Given the description of an element on the screen output the (x, y) to click on. 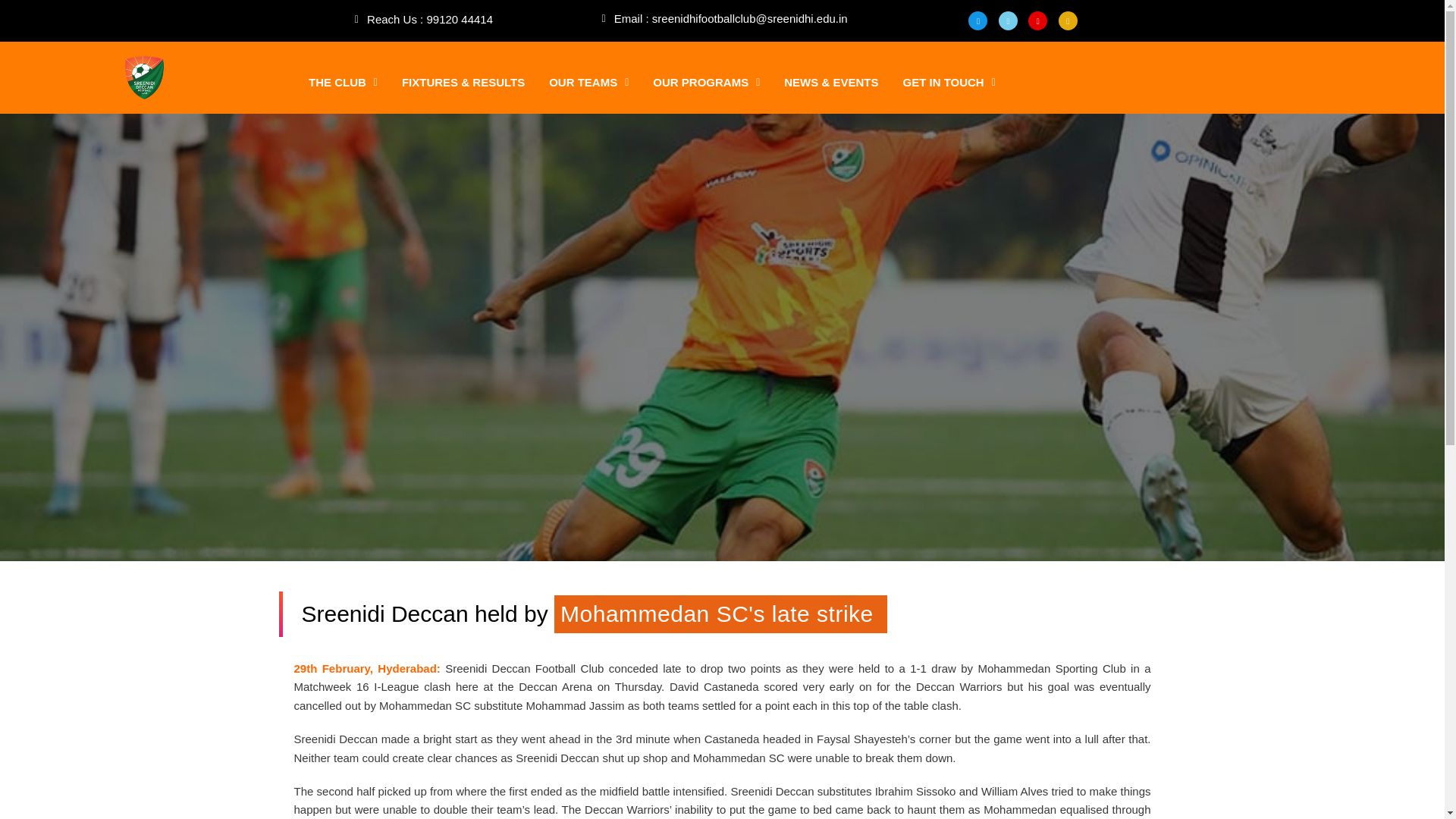
GET IN TOUCH (948, 81)
OUR TEAMS (588, 81)
OUR PROGRAMS (705, 81)
THE CLUB (343, 81)
